Given the description of an element on the screen output the (x, y) to click on. 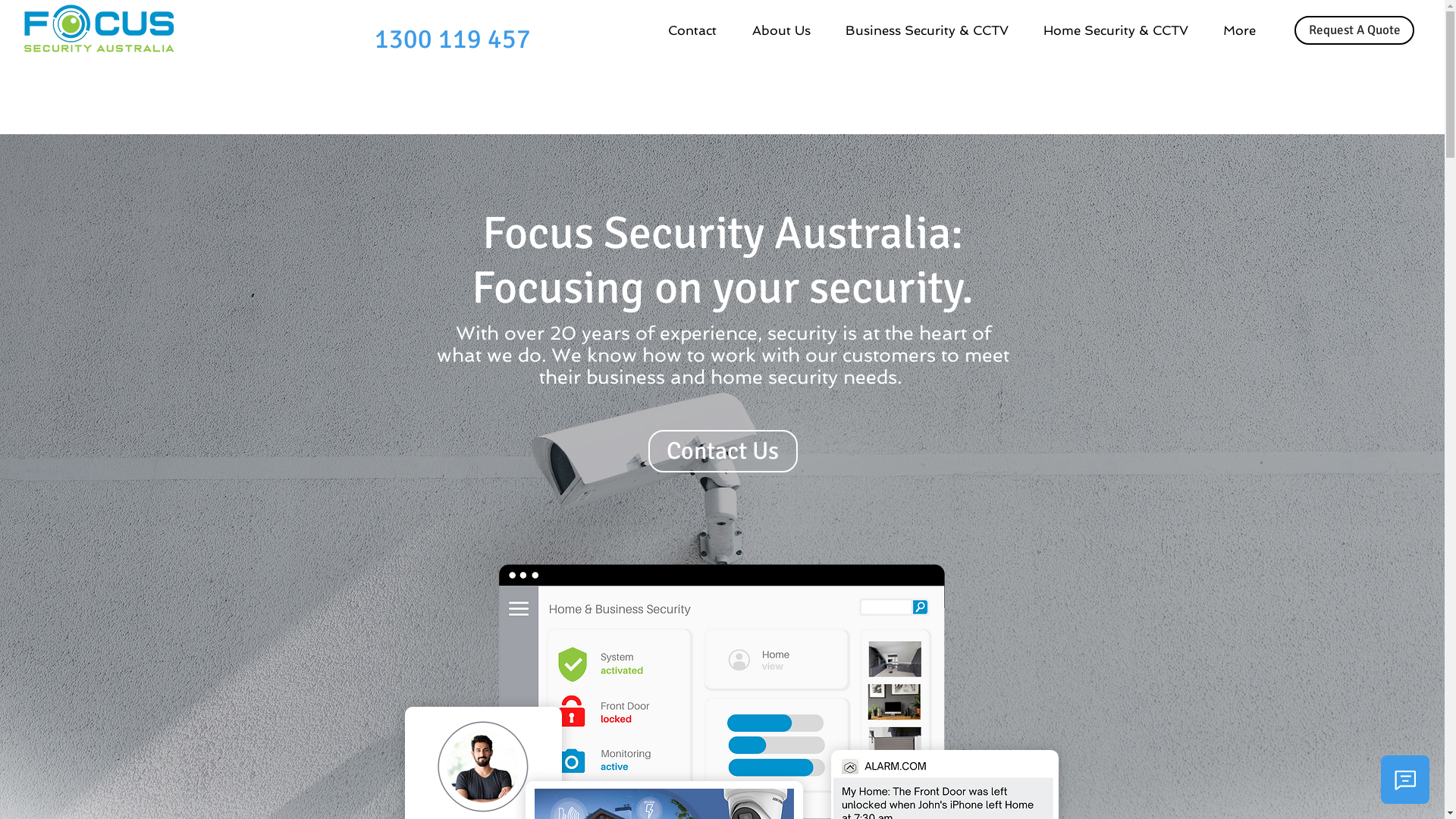
About Us Element type: text (787, 30)
TWIPLA (Visitor Analytics) Element type: hover (1442, 4)
Home Security & CCTV Element type: text (1121, 30)
Contact Us Element type: text (722, 450)
Business Security & CCTV Element type: text (933, 30)
Request A Quote Element type: text (1354, 29)
Contact Element type: text (698, 30)
TWIPLA (Visitor Analytics) Element type: hover (728, 363)
